Given the description of an element on the screen output the (x, y) to click on. 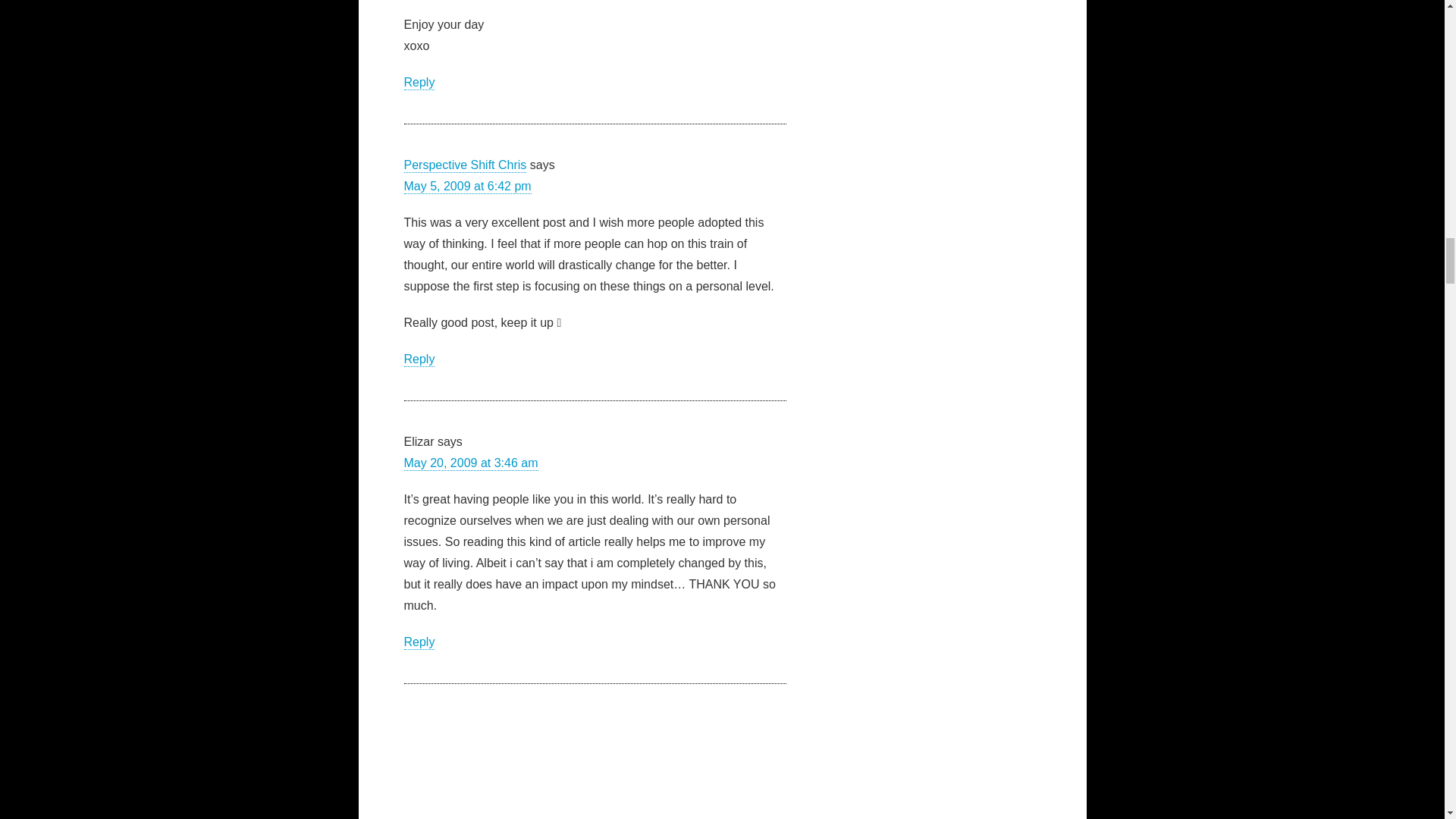
May 5, 2009 at 6:42 pm (467, 186)
Reply (418, 359)
Reply (418, 83)
Reply (418, 642)
Perspective Shift Chris (464, 164)
May 20, 2009 at 3:46 am (470, 463)
